Given the description of an element on the screen output the (x, y) to click on. 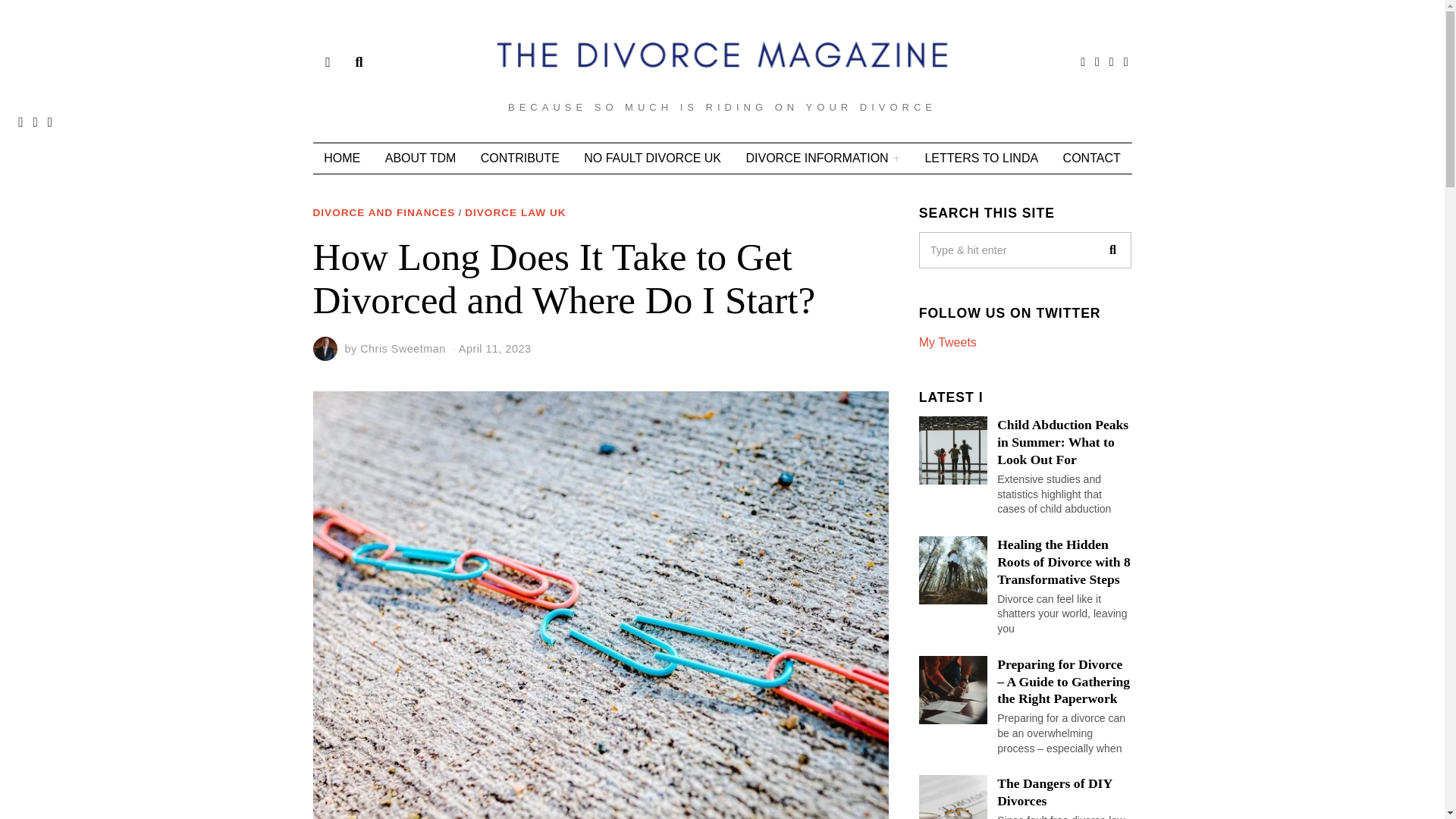
CONTACT (1091, 158)
HOME (342, 158)
NO FAULT DIVORCE UK (652, 158)
CONTRIBUTE (520, 158)
Chris Sweetman (402, 348)
DIVORCE AND FINANCES (383, 213)
LETTERS TO LINDA (981, 158)
DIVORCE LAW UK (515, 213)
ABOUT TDM (420, 158)
DIVORCE INFORMATION (823, 158)
